Given the description of an element on the screen output the (x, y) to click on. 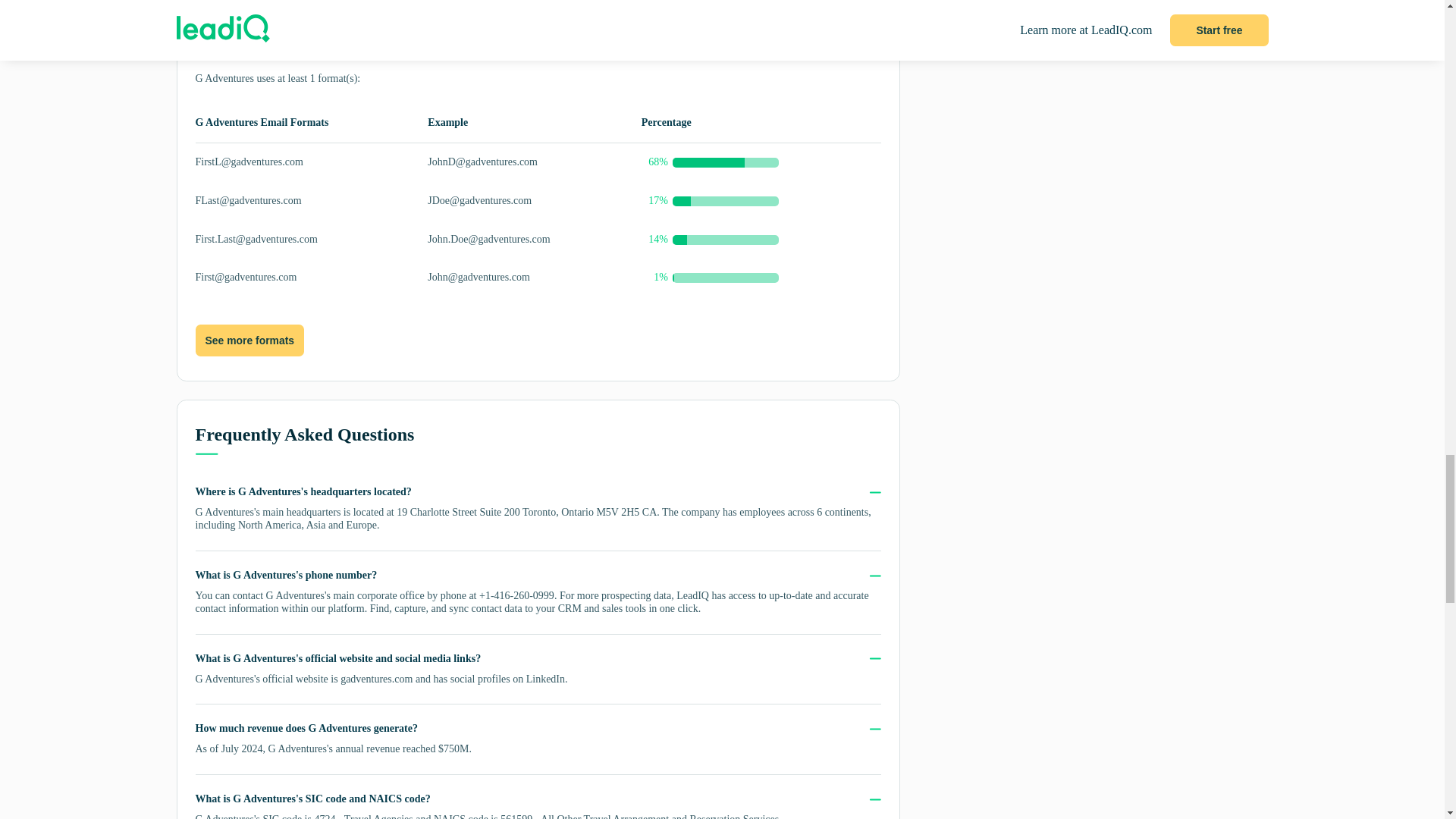
See more formats (249, 340)
gadventures.com (376, 678)
LinkedIn (544, 678)
See more formats (249, 340)
